Given the description of an element on the screen output the (x, y) to click on. 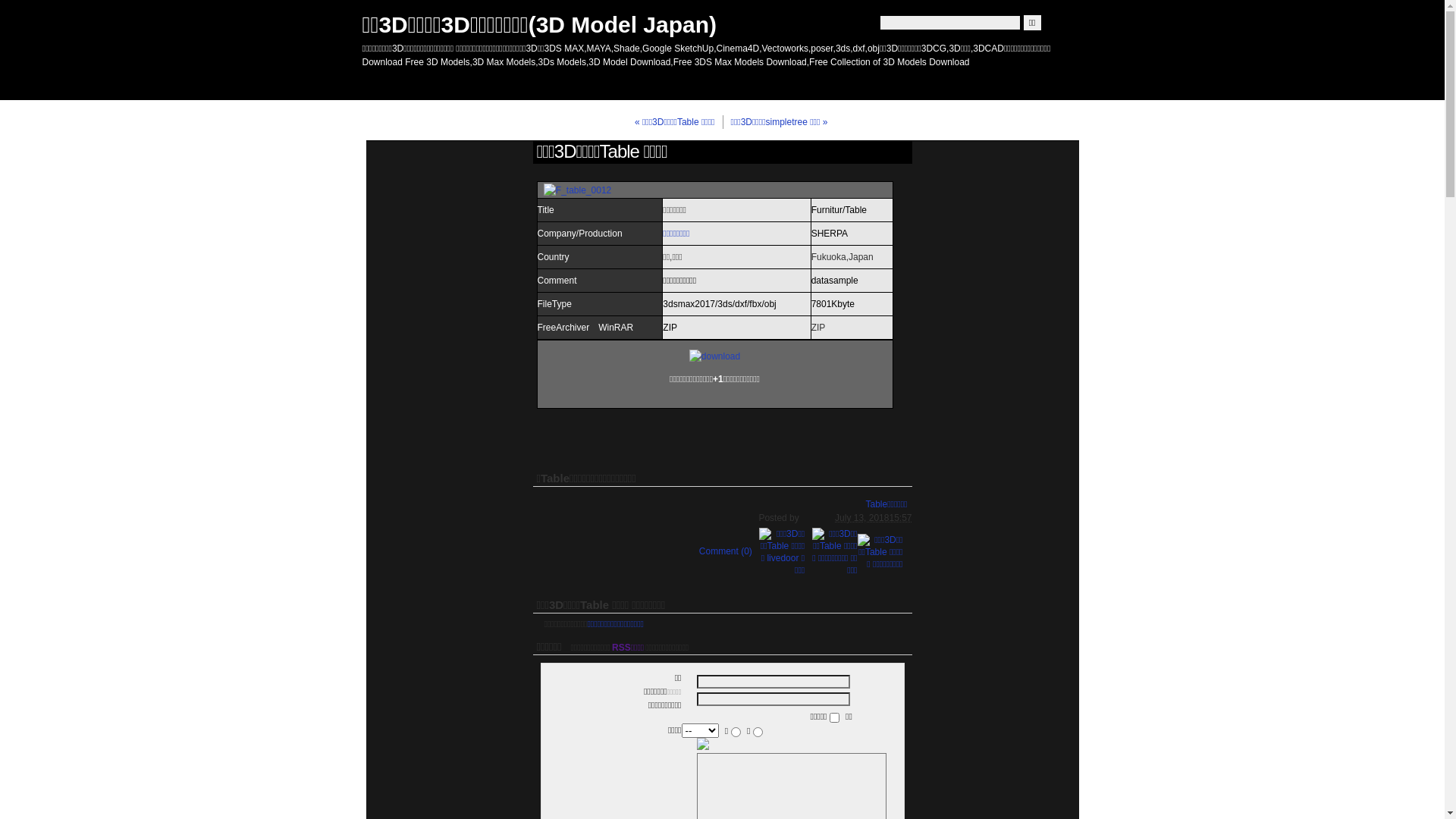
download Element type: hover (714, 356)
Reader Element type: text (425, 83)
News Element type: text (463, 83)
Keyword Element type: text (501, 83)
Photos Element type: text (387, 83)
Profile Element type: text (369, 83)
Advertisement Element type: hover (713, 431)
Subscribe with livedoor Reader Element type: text (585, 83)
Bookmarks Element type: text (407, 83)
F_table_0012 Element type: hover (577, 190)
Gourmet Element type: text (521, 83)
Wiki Element type: text (445, 83)
Mail Element type: text (539, 83)
Lislog Element type: text (483, 83)
RSS Feed Element type: text (566, 83)
Comment (0) Element type: text (718, 551)
